Given the description of an element on the screen output the (x, y) to click on. 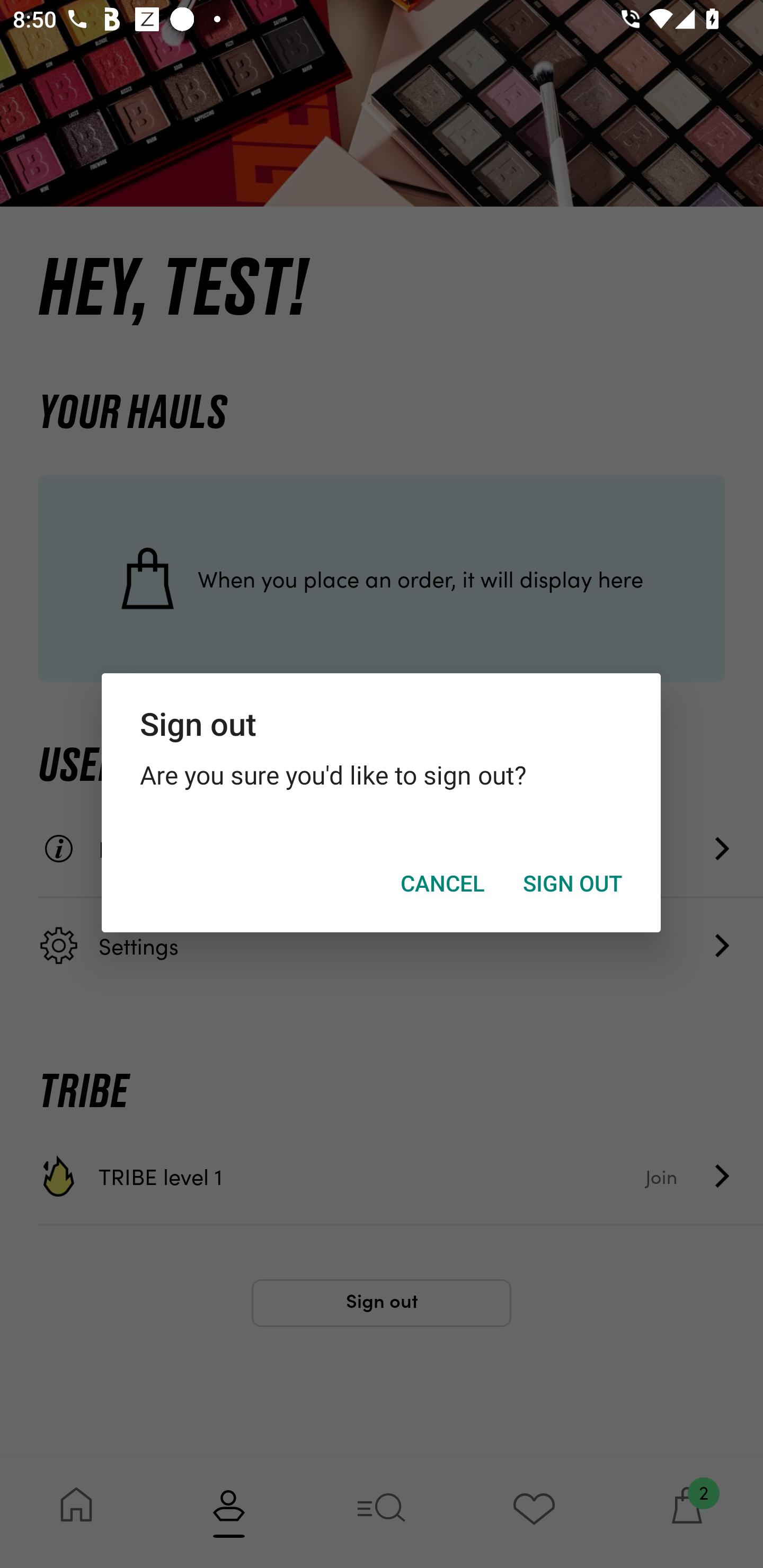
CANCEL (442, 883)
SIGN OUT (572, 883)
